Given the description of an element on the screen output the (x, y) to click on. 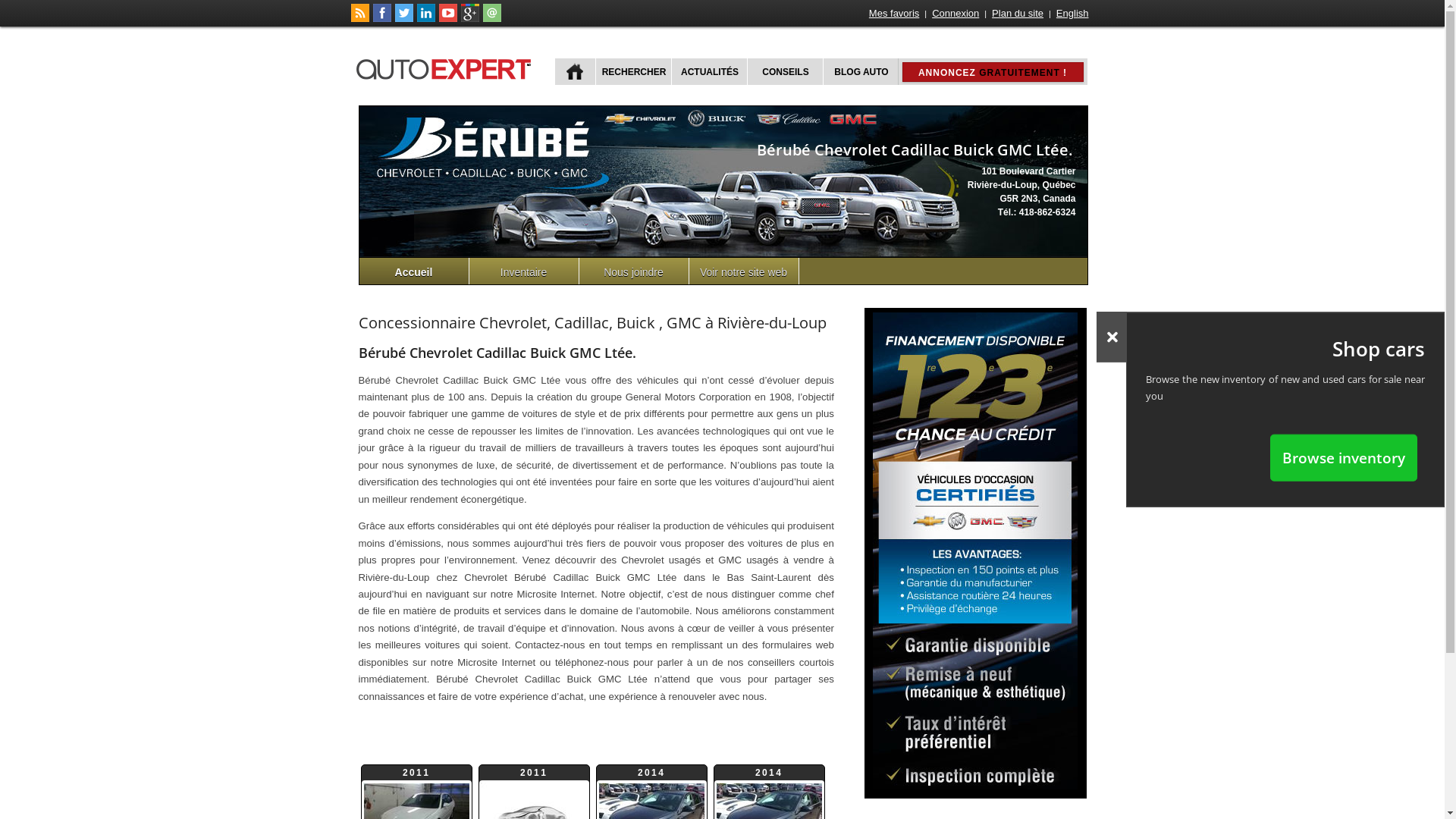
Plan du site Element type: text (1017, 13)
RECHERCHER Element type: text (631, 71)
Suivez autoExpert.ca sur Twitter Element type: hover (403, 18)
Inventaire Element type: text (523, 270)
English Element type: text (1072, 13)
Accueil Element type: text (414, 270)
CONSEILS Element type: text (783, 71)
Nous joindre Element type: text (634, 270)
autoExpert.ca Element type: text (446, 66)
Voir notre site web Element type: text (743, 270)
Suivez autoExpert.ca sur Youtube Element type: hover (447, 18)
ANNONCEZ GRATUITEMENT ! Element type: text (992, 71)
Suivez Publications Le Guide Inc. sur LinkedIn Element type: hover (426, 18)
Mes favoris Element type: text (893, 13)
BLOG AUTO Element type: text (859, 71)
Joindre autoExpert.ca Element type: hover (491, 18)
Connexion Element type: text (955, 13)
Browse inventory Element type: text (1343, 457)
Suivez autoExpert.ca sur Google Plus Element type: hover (470, 18)
ACCUEIL Element type: text (575, 71)
Suivez autoExpert.ca sur Facebook Element type: hover (382, 18)
